Given the description of an element on the screen output the (x, y) to click on. 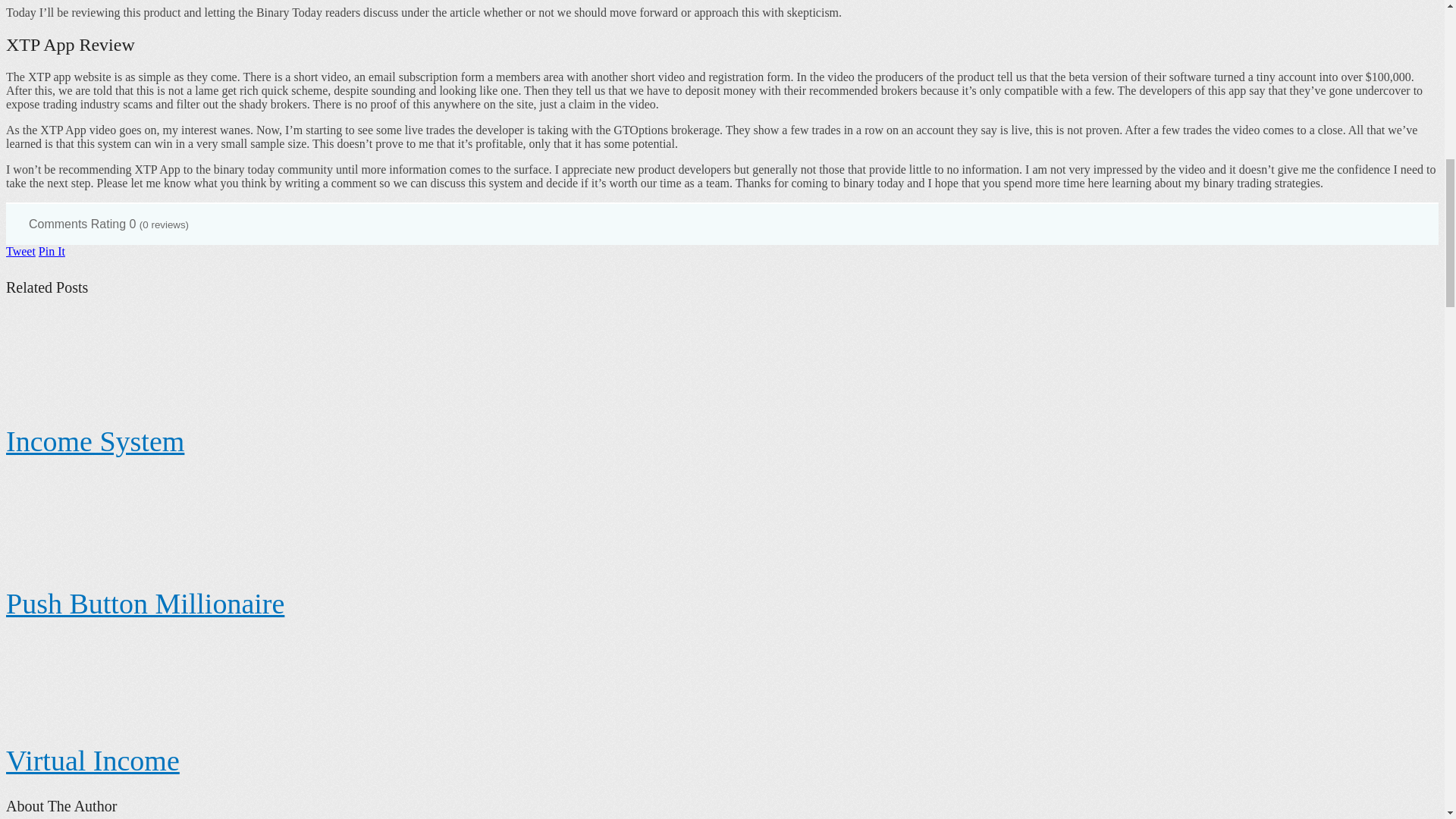
Income System (94, 441)
Pin It (52, 250)
Virtual Income (92, 760)
Push Button Millionaire (144, 603)
Tweet (19, 250)
Virtual Income (92, 760)
Income System (94, 441)
Push Button Millionaire (144, 603)
